Given the description of an element on the screen output the (x, y) to click on. 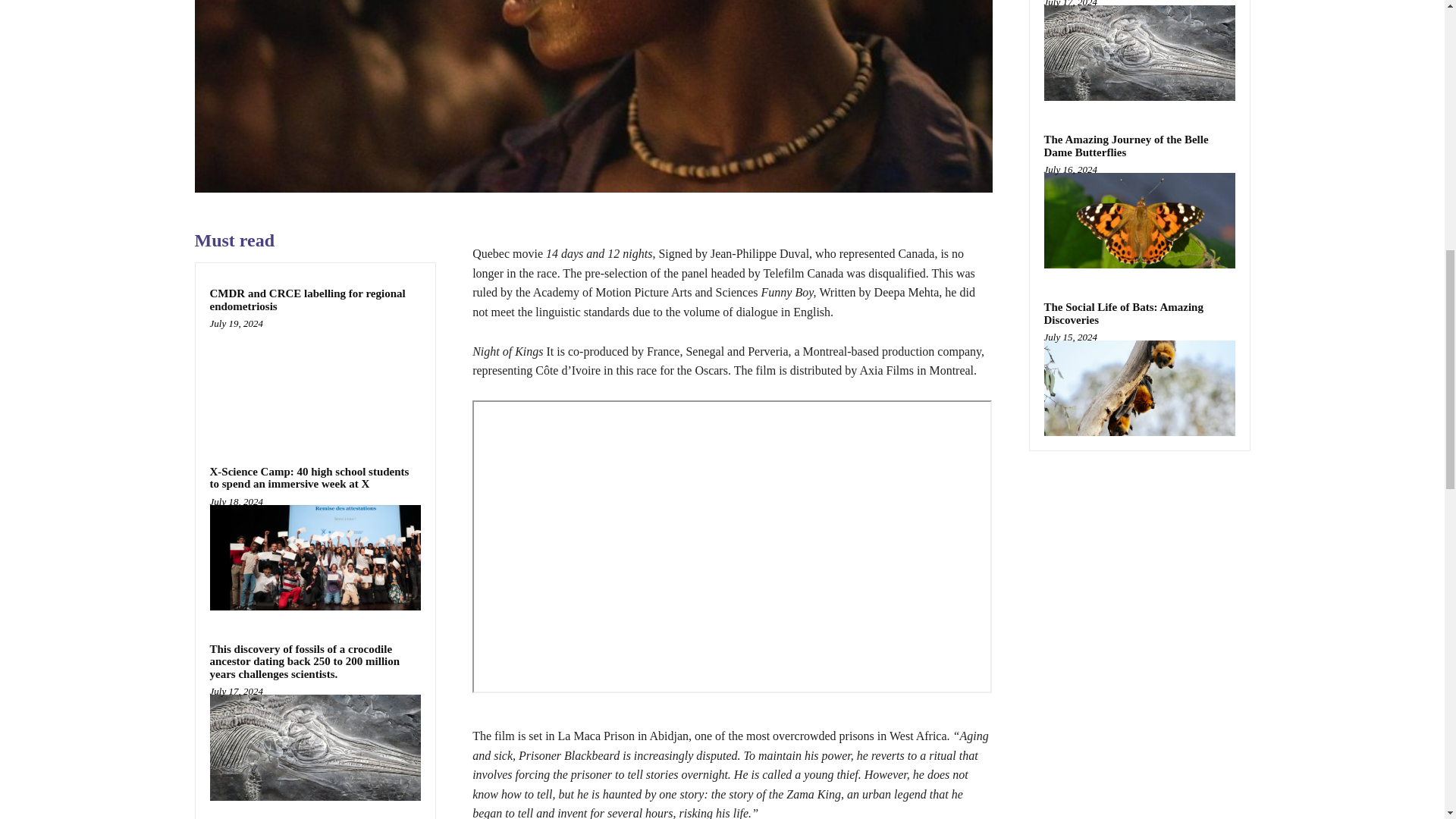
CMDR and CRCE labelling for regional endometriosis (314, 379)
CMDR and CRCE labelling for regional endometriosis (306, 299)
